Given the description of an element on the screen output the (x, y) to click on. 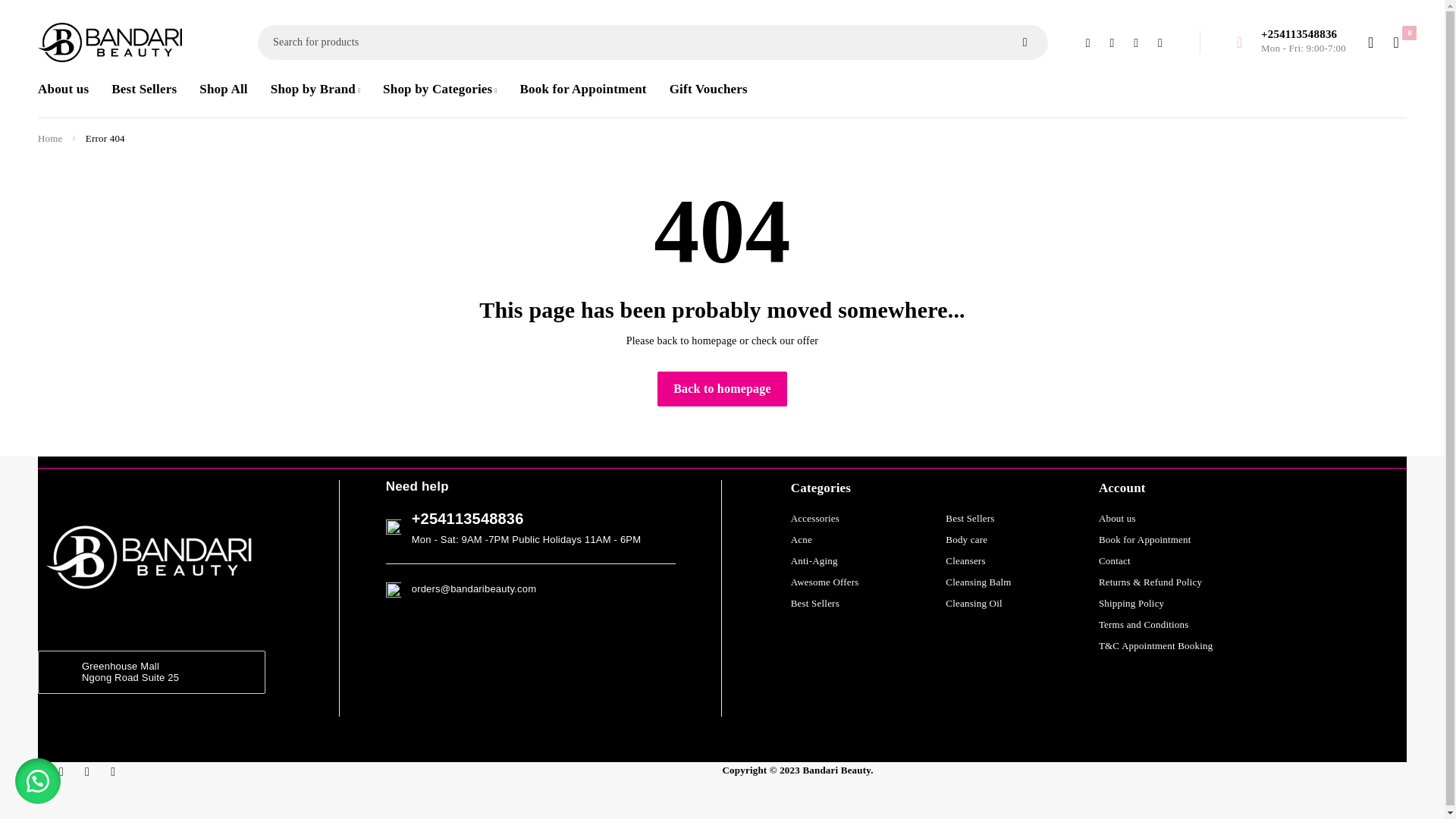
Back to homepage (722, 388)
Bandari Beauty (109, 42)
Accessories (815, 518)
Search (1025, 42)
Home (49, 138)
View your shopping cart (1394, 42)
Shop by Brand (314, 88)
Gift Vouchers (708, 88)
Best Sellers (144, 88)
Acne (801, 539)
0 (1394, 42)
Shop by Categories (439, 88)
Search (1025, 42)
Book for Appointment (582, 88)
Anti-Aging (814, 560)
